Given the description of an element on the screen output the (x, y) to click on. 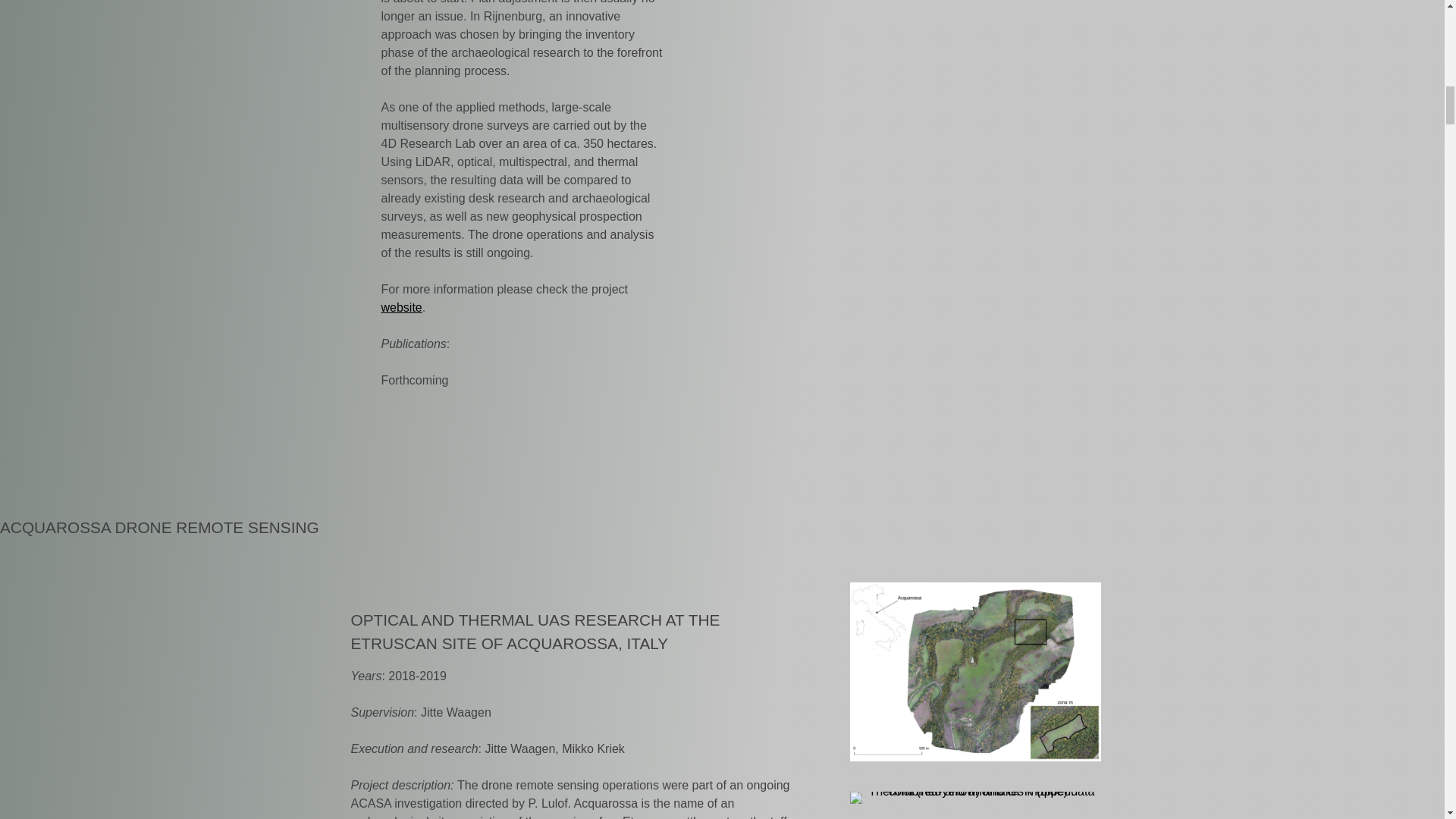
ACQUAROSSA DRONE REMOTE SENSING (159, 527)
drones-06-00165-g010 (975, 671)
website (401, 307)
